Given the description of an element on the screen output the (x, y) to click on. 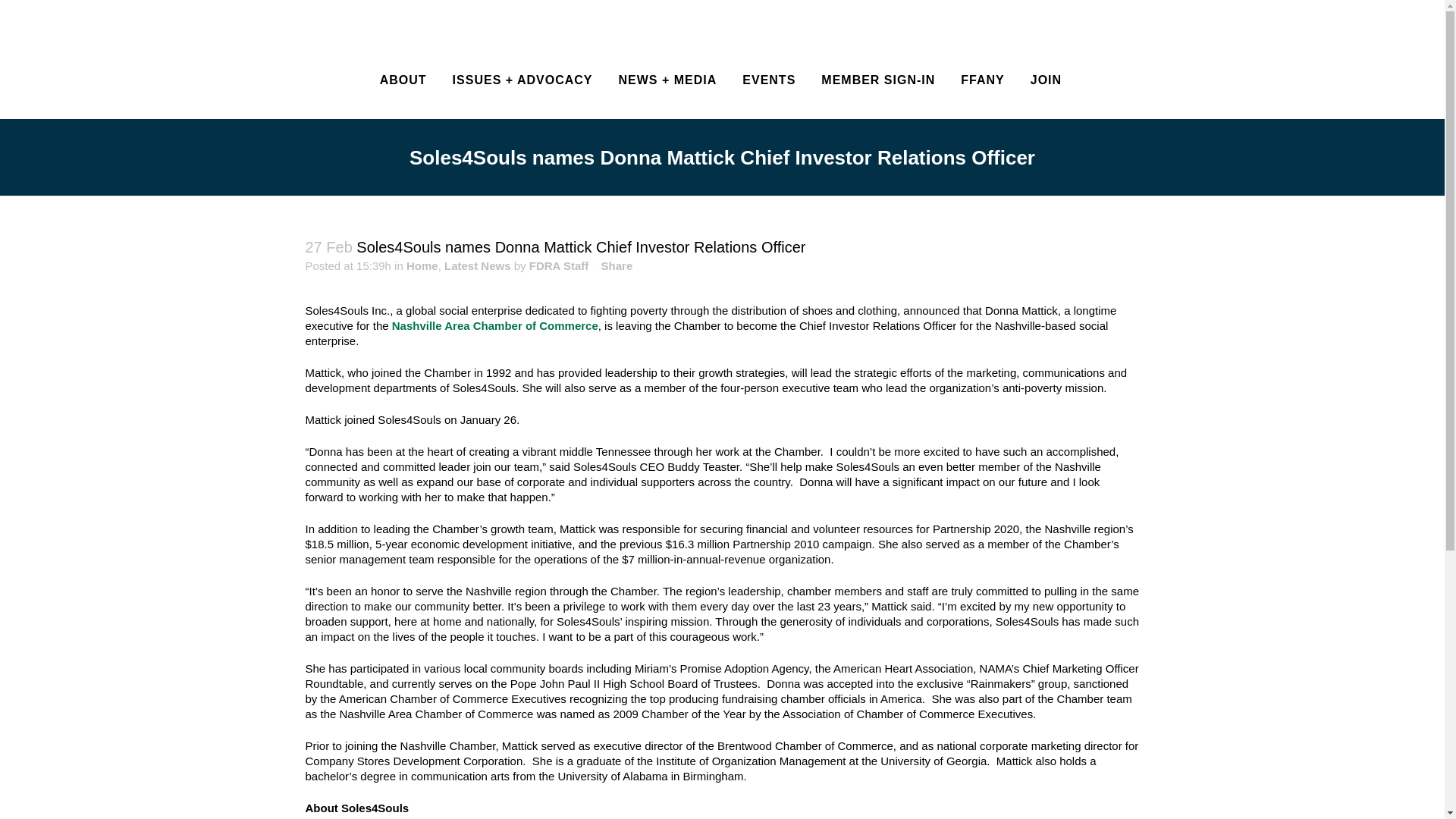
FFANY (981, 79)
EVENTS (768, 79)
ABOUT (402, 79)
MEMBER SIGN-IN (877, 79)
